Given the description of an element on the screen output the (x, y) to click on. 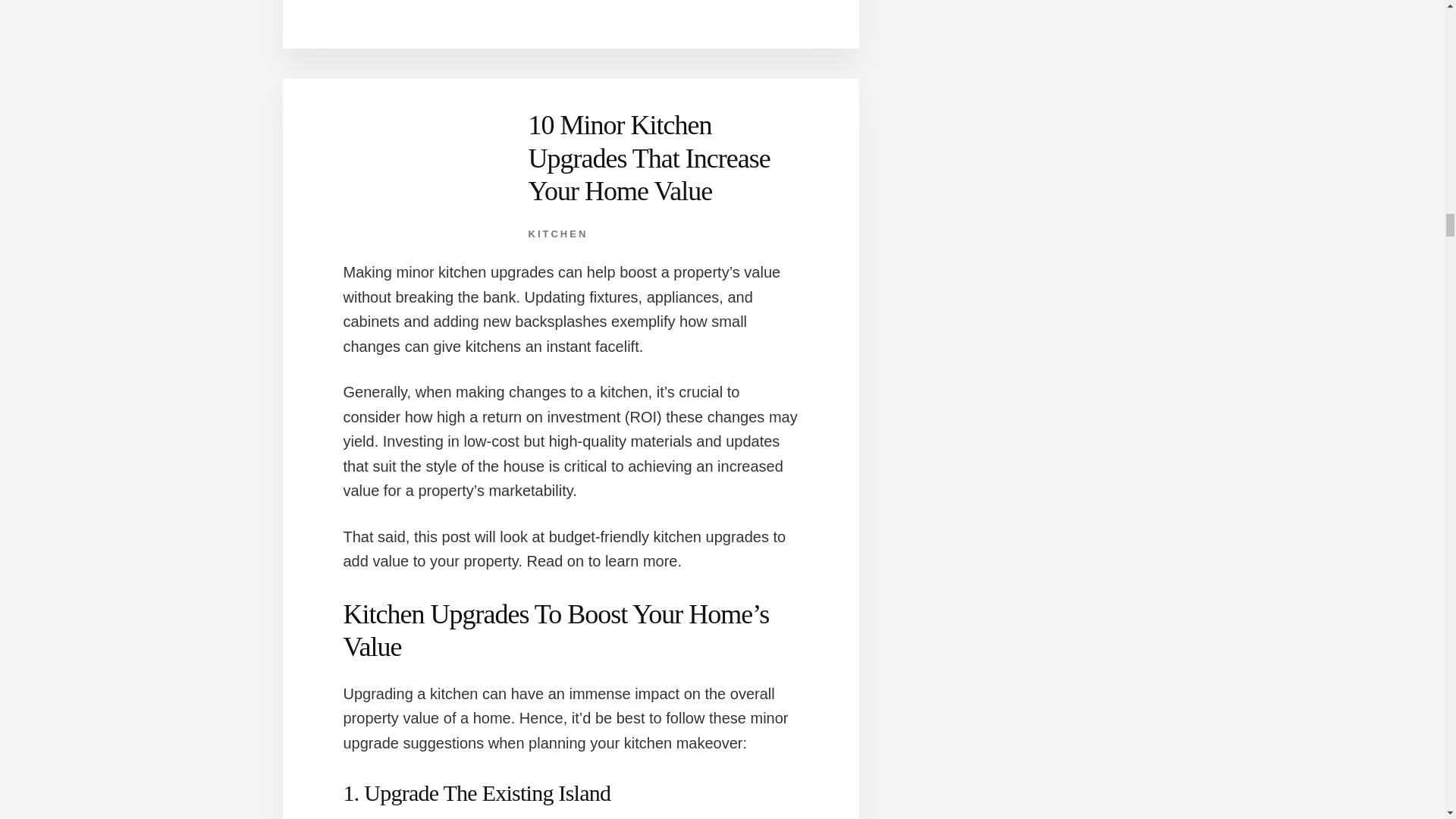
KITCHEN (557, 233)
10 Minor Kitchen Upgrades That Increase Your Home Value (648, 157)
